Given the description of an element on the screen output the (x, y) to click on. 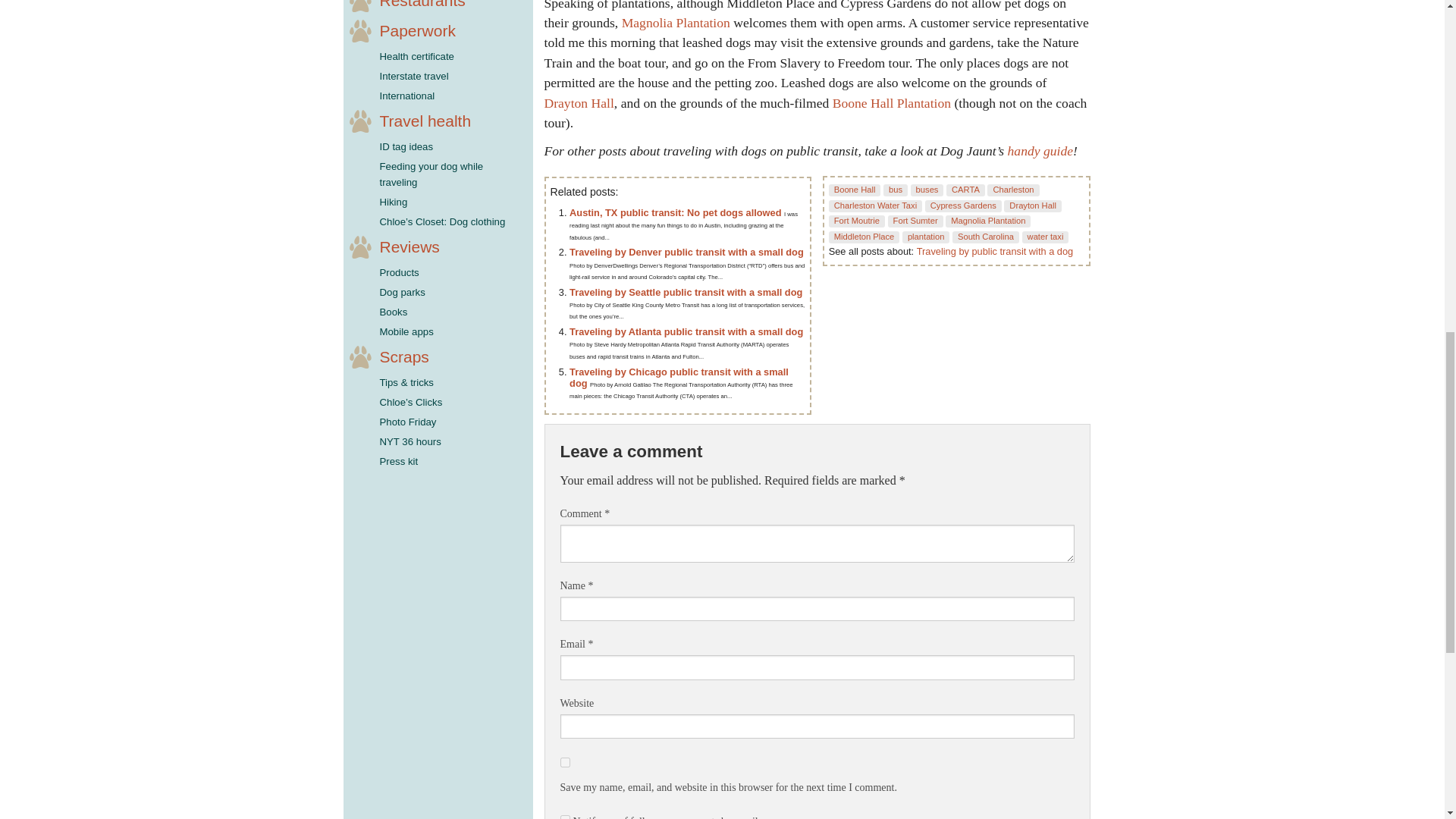
Boone Hall Plantation (891, 102)
Traveling by Denver public transit with a small dog (686, 251)
Austin, TX public transit: No pet dogs allowed (676, 212)
Boone Hall Plantation (891, 102)
Traveling by Chicago public transit with a small dog (679, 377)
handy guide (1040, 150)
Drayton Hall (579, 102)
Traveling by Denver public transit with a small dog (686, 251)
subscribe (564, 816)
Traveling by Atlanta public transit with a small dog (686, 331)
Traveling by Seattle public transit with a small dog (685, 292)
Traveling by Seattle public transit with a small dog (685, 292)
Drayton Hall (579, 102)
yes (564, 762)
Magnolia Plantation (675, 22)
